Given the description of an element on the screen output the (x, y) to click on. 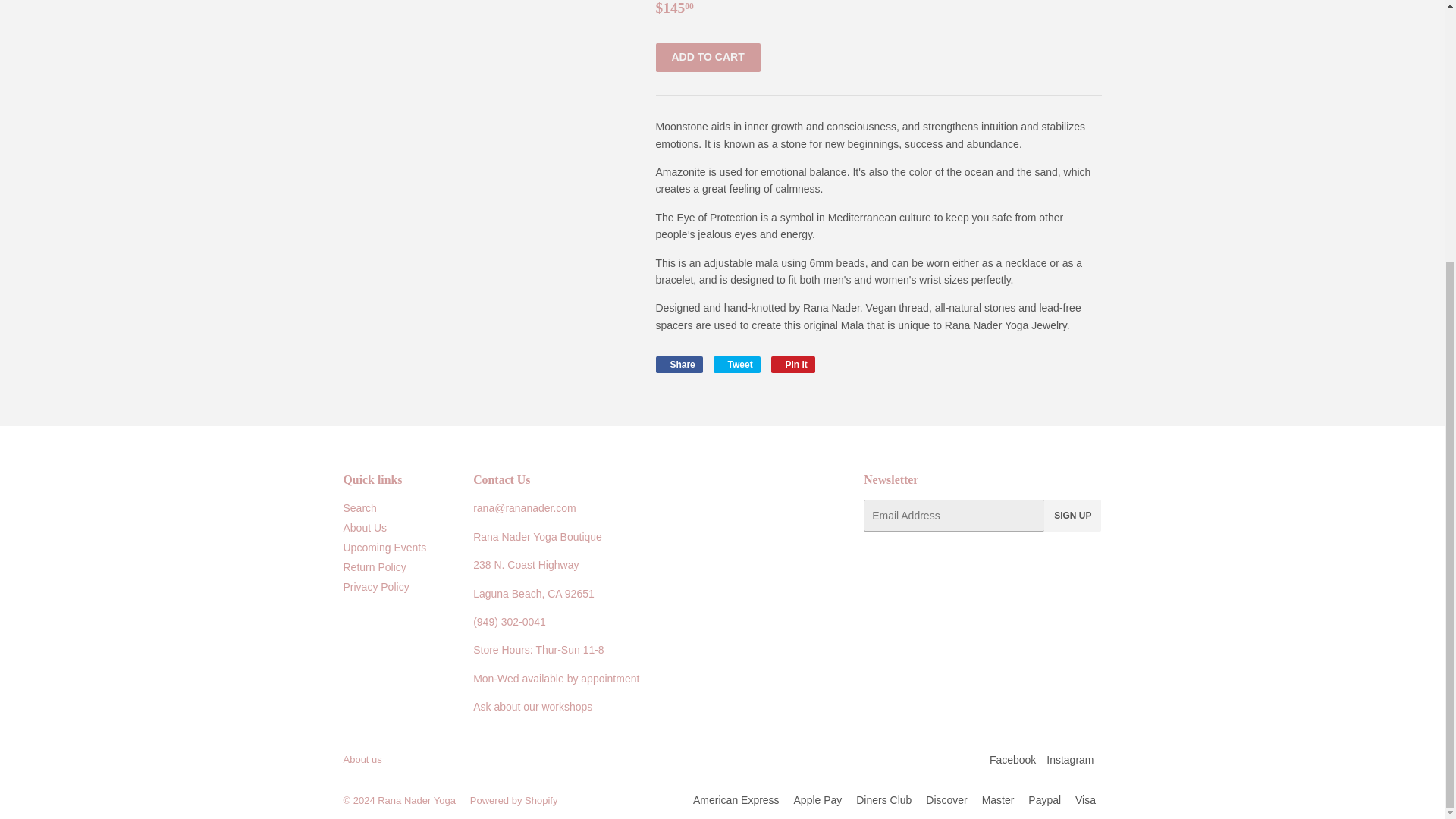
Instagram (1069, 759)
SIGN UP (1071, 515)
Rana Nader Yoga (793, 364)
Share on Facebook (678, 364)
Upcoming Events (416, 799)
Tweet on Twitter (678, 364)
Search (736, 364)
